Given the description of an element on the screen output the (x, y) to click on. 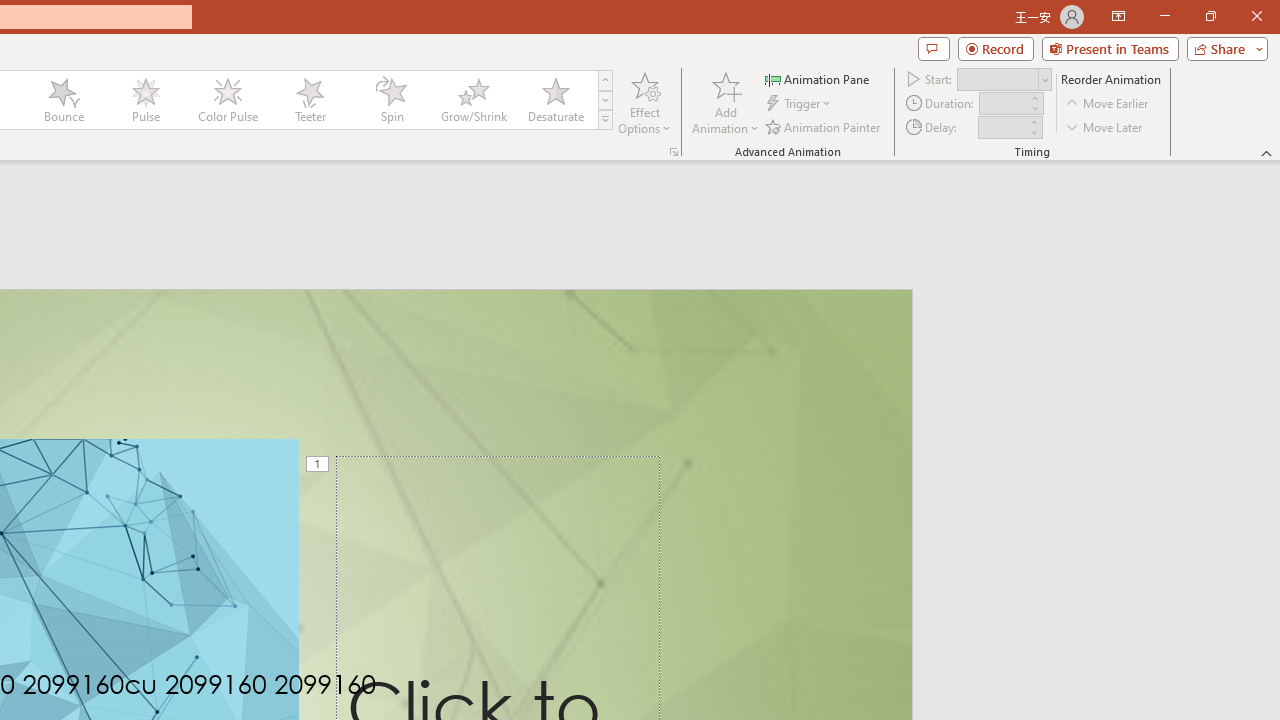
More Options... (673, 151)
Color Pulse (227, 100)
Pulse (145, 100)
